Given the description of an element on the screen output the (x, y) to click on. 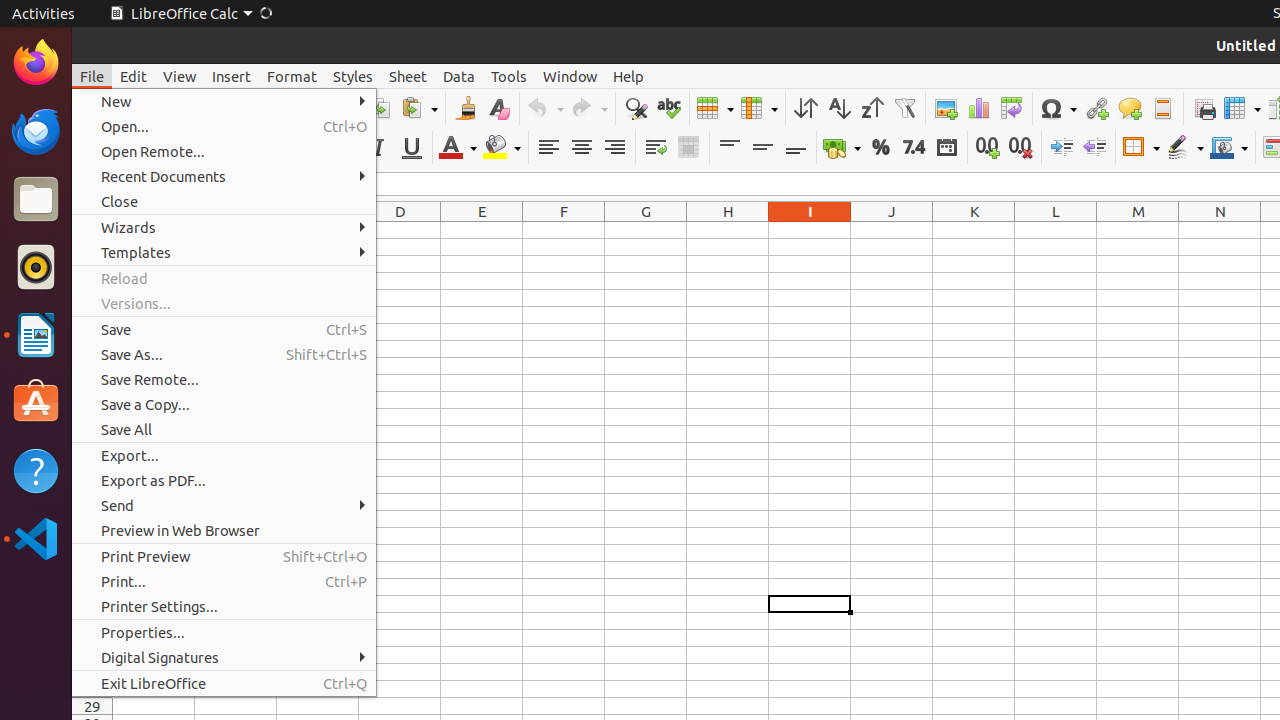
Hyperlink Element type: toggle-button (1096, 108)
E1 Element type: table-cell (482, 230)
File Element type: menu (92, 76)
Sheet Element type: menu (408, 76)
Tools Element type: menu (509, 76)
